Given the description of an element on the screen output the (x, y) to click on. 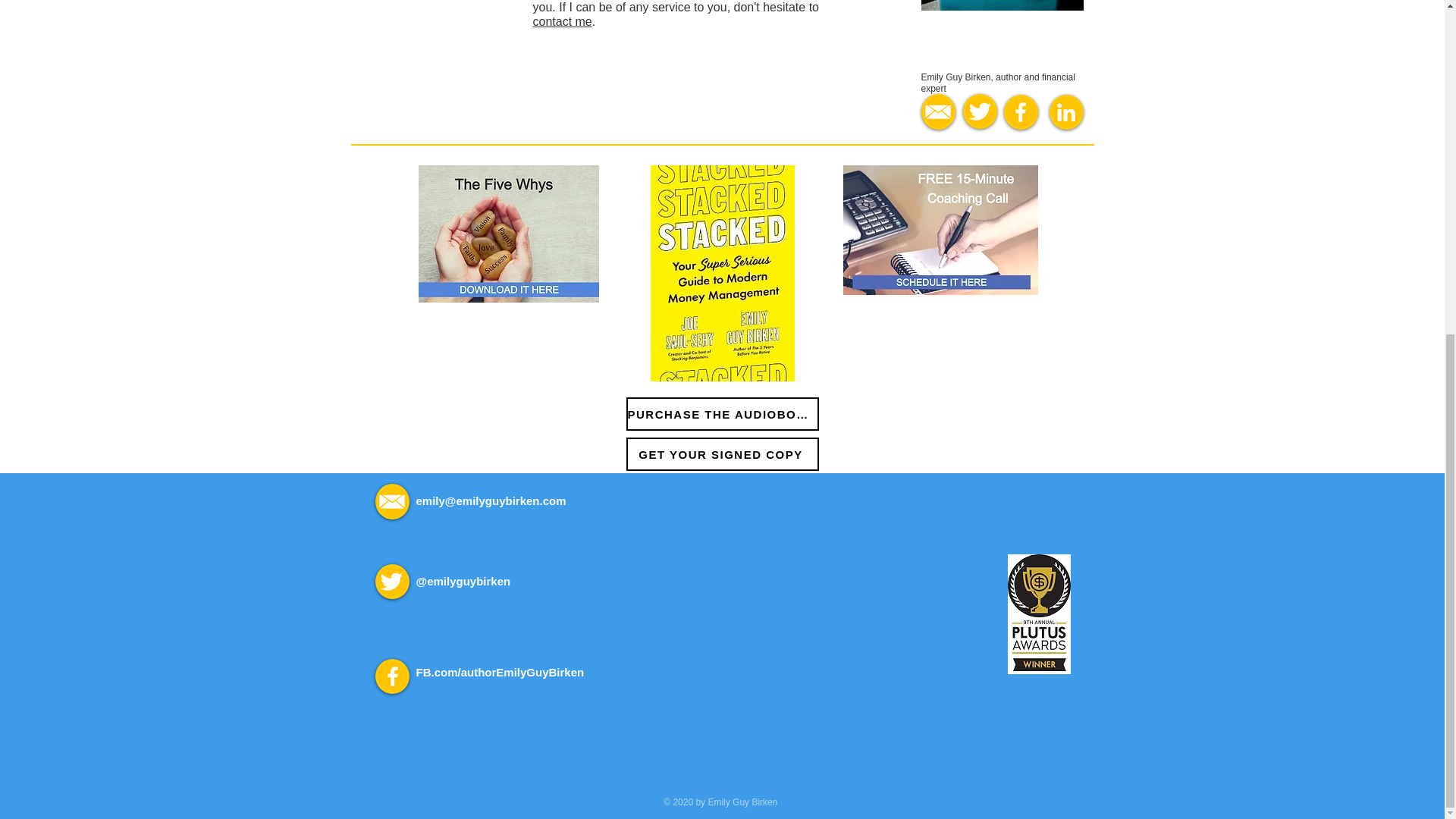
What does money mean to you? (508, 233)
GET YOUR SIGNED COPY (722, 453)
PURCHASE THE AUDIOBOOK (722, 413)
contact me (561, 21)
